Given the description of an element on the screen output the (x, y) to click on. 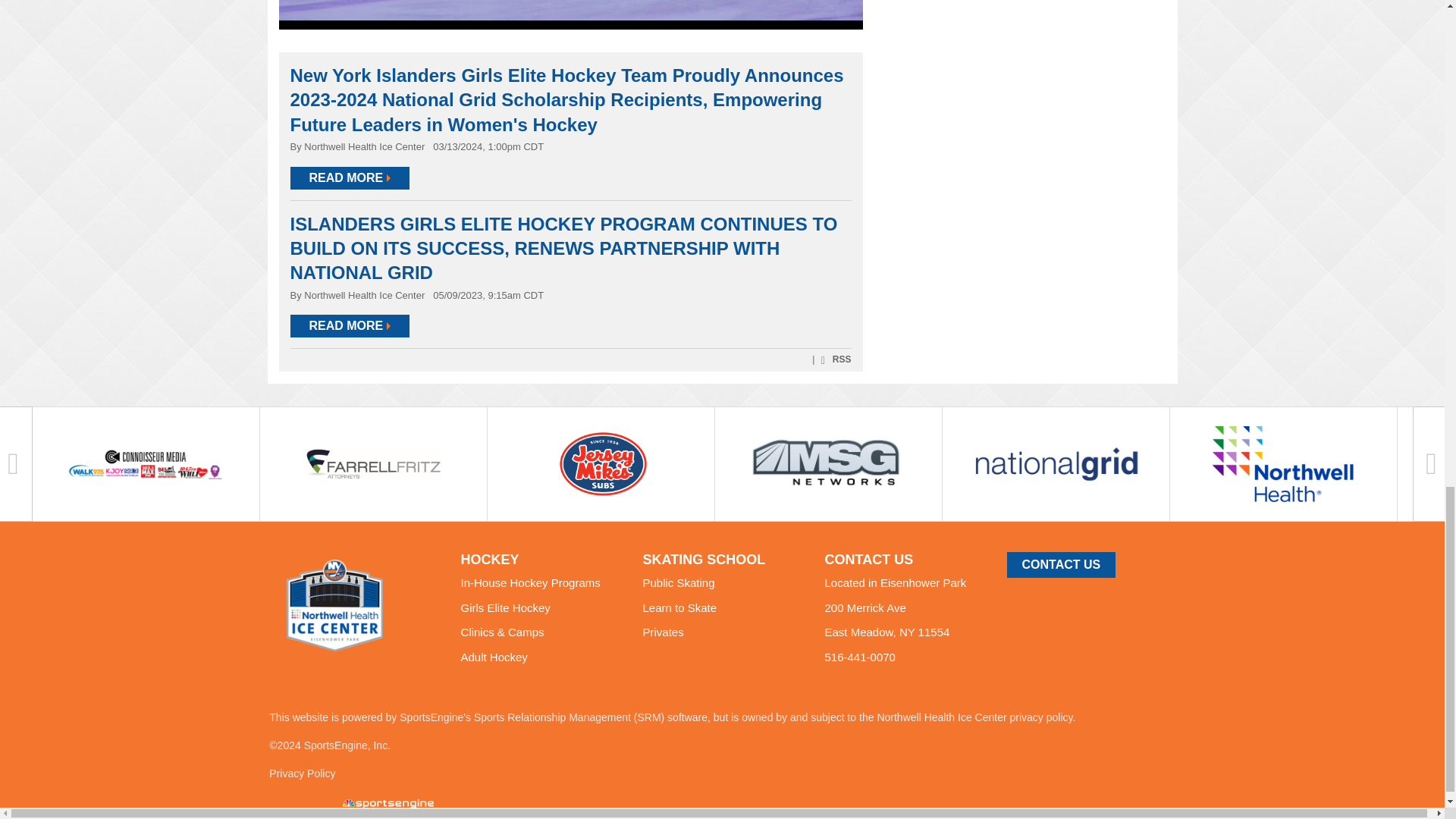
Subscribe to RSS Feed (833, 359)
READ MORE (349, 178)
